Given the description of an element on the screen output the (x, y) to click on. 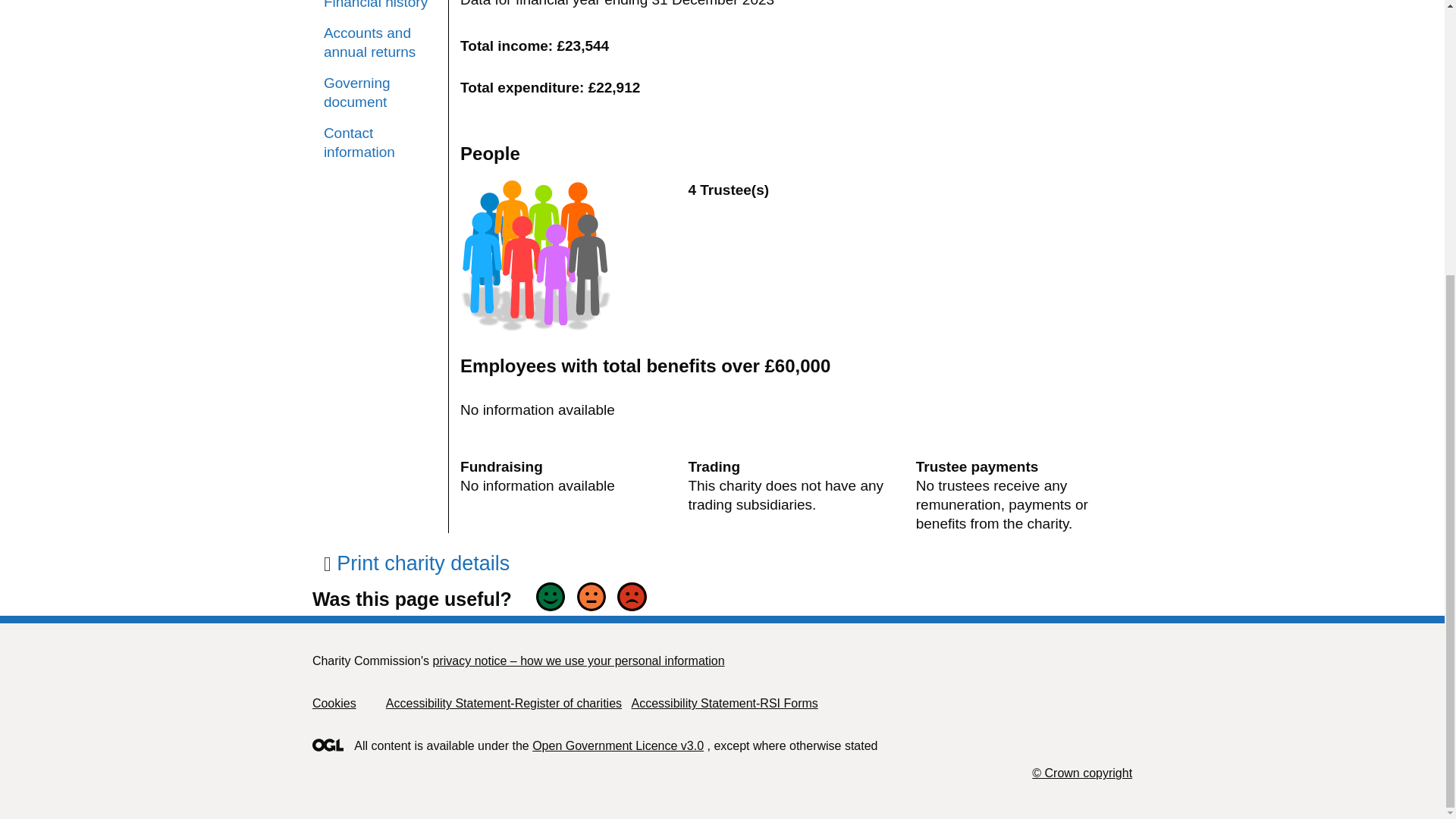
Contact information (379, 142)
Cookies (334, 703)
Print charity details (416, 563)
Governing document (379, 92)
Accessibility Statement-Register of charities (503, 703)
Accessibility Statement-RSI Forms (723, 703)
Open Government Licence v3.0 (617, 745)
Financial history (379, 5)
Accounts and annual returns (379, 42)
